Given the description of an element on the screen output the (x, y) to click on. 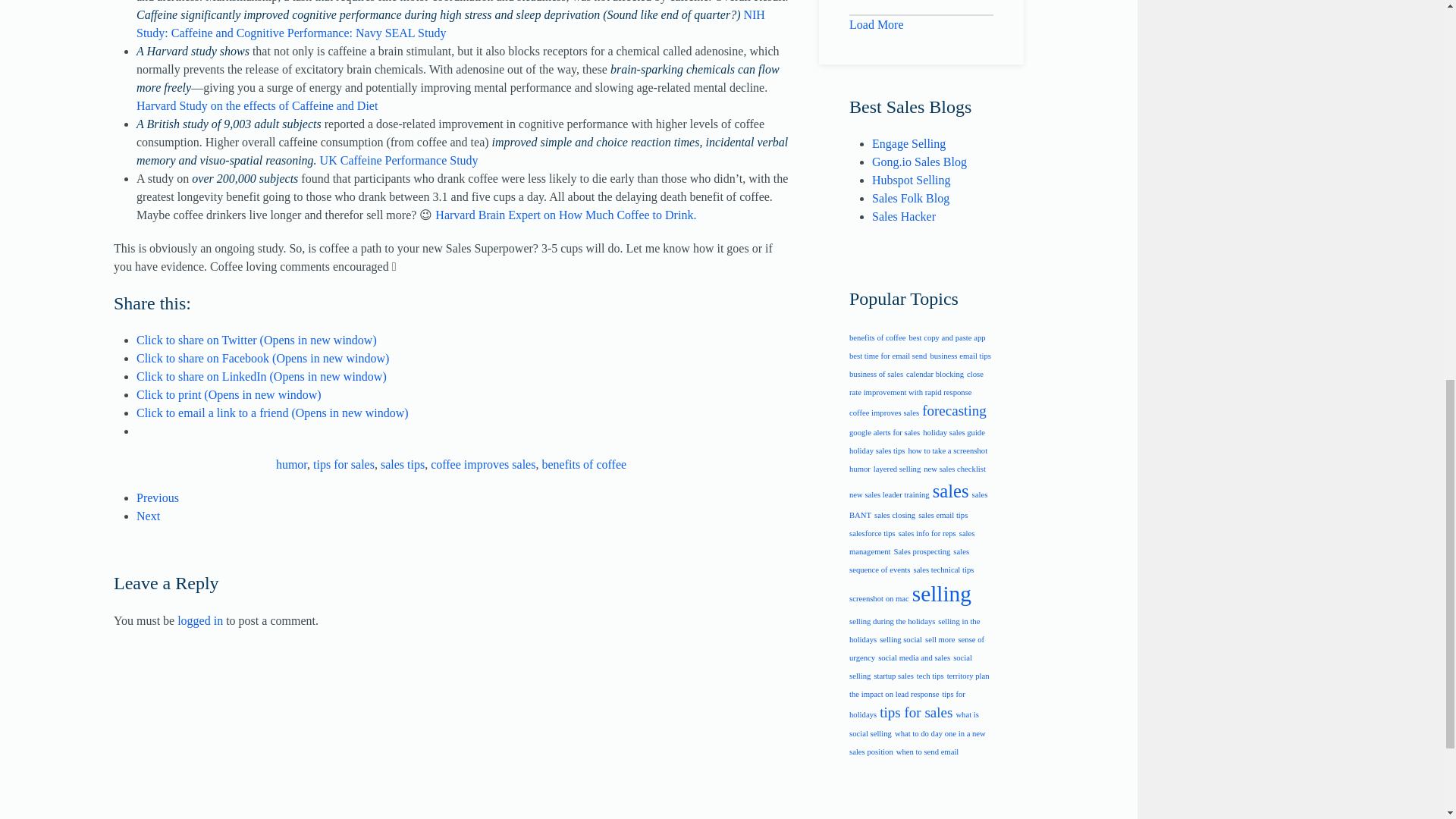
tips for sales (343, 463)
humor (291, 463)
benefits of coffee (583, 463)
Great assortment of sales and marketing info (911, 179)
Click to email a link to a friend (272, 412)
Click to share on Twitter (256, 339)
Previous (157, 497)
Harvard Brain Expert on How Much Coffee to Drink. (565, 214)
sales tips (402, 463)
Harvard Study on the effects of Caffeine and Diet (256, 104)
logged in (199, 620)
Click to print (228, 394)
A plethora of sales topics for u (908, 143)
Great startup b2b articles for sellers (904, 215)
